Given the description of an element on the screen output the (x, y) to click on. 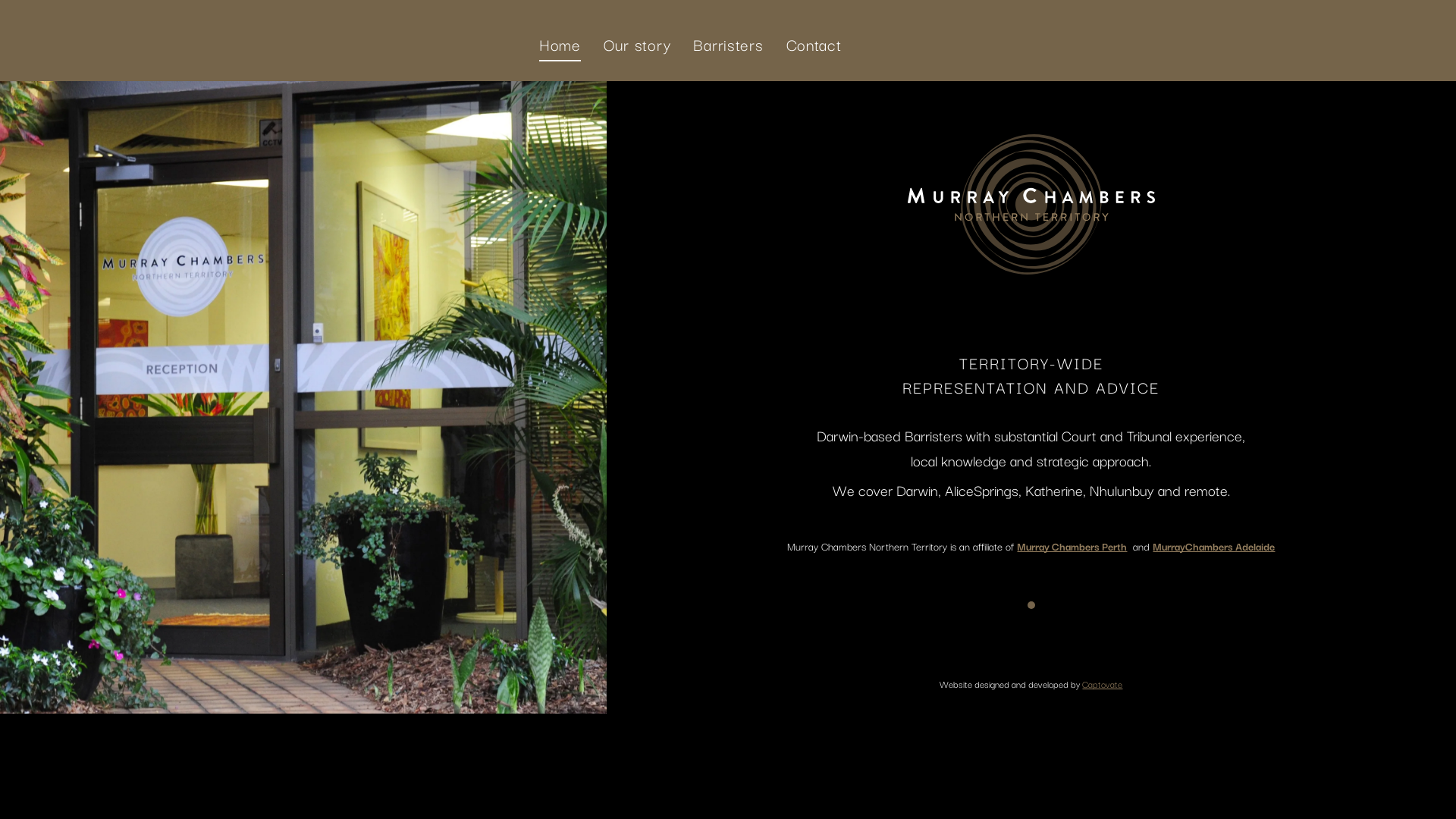
Contact Element type: text (814, 44)
Barristers Element type: text (727, 44)
Murray Chambers Perth Element type: text (1071, 545)
MurrayChambers Adelaide Element type: text (1213, 545)
Captovate Element type: text (1102, 683)
Our story Element type: text (636, 44)
Home Element type: text (559, 44)
